Given the description of an element on the screen output the (x, y) to click on. 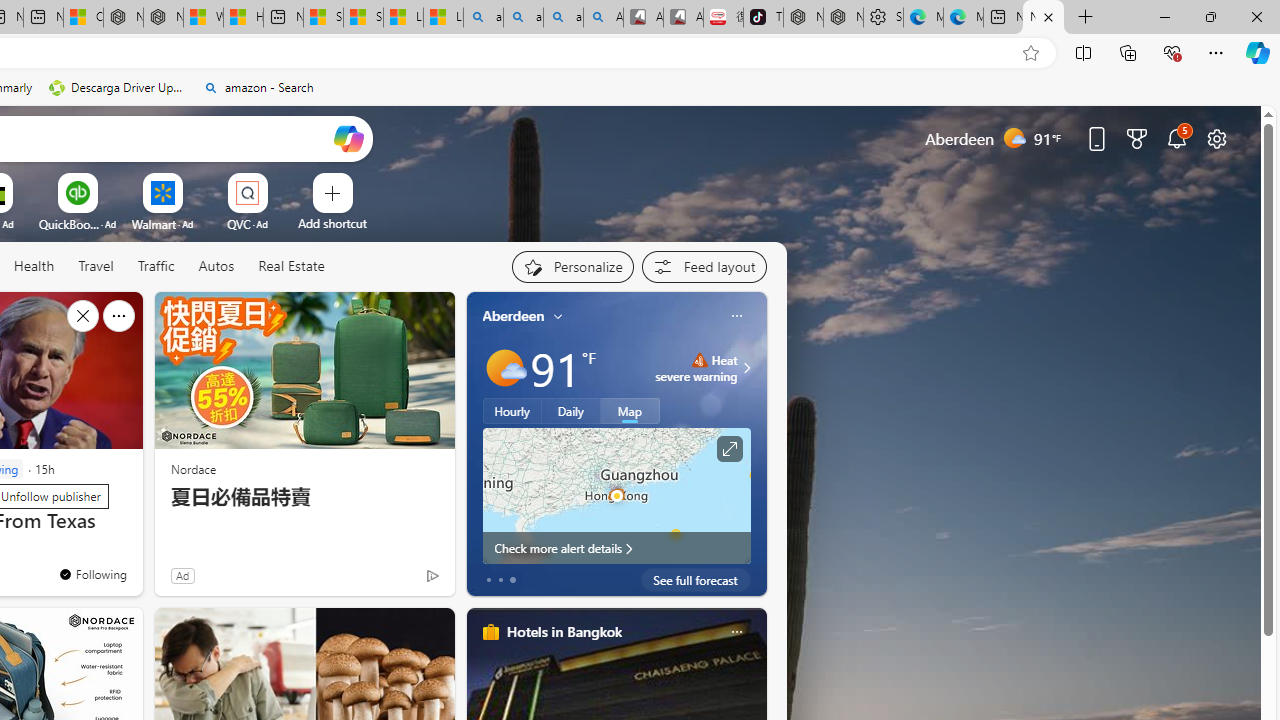
tab-1 (500, 579)
tab-0 (488, 579)
Aberdeen (513, 315)
hotels-header-icon (490, 632)
Nordace Siena Pro 15 Backpack (843, 17)
